Given the description of an element on the screen output the (x, y) to click on. 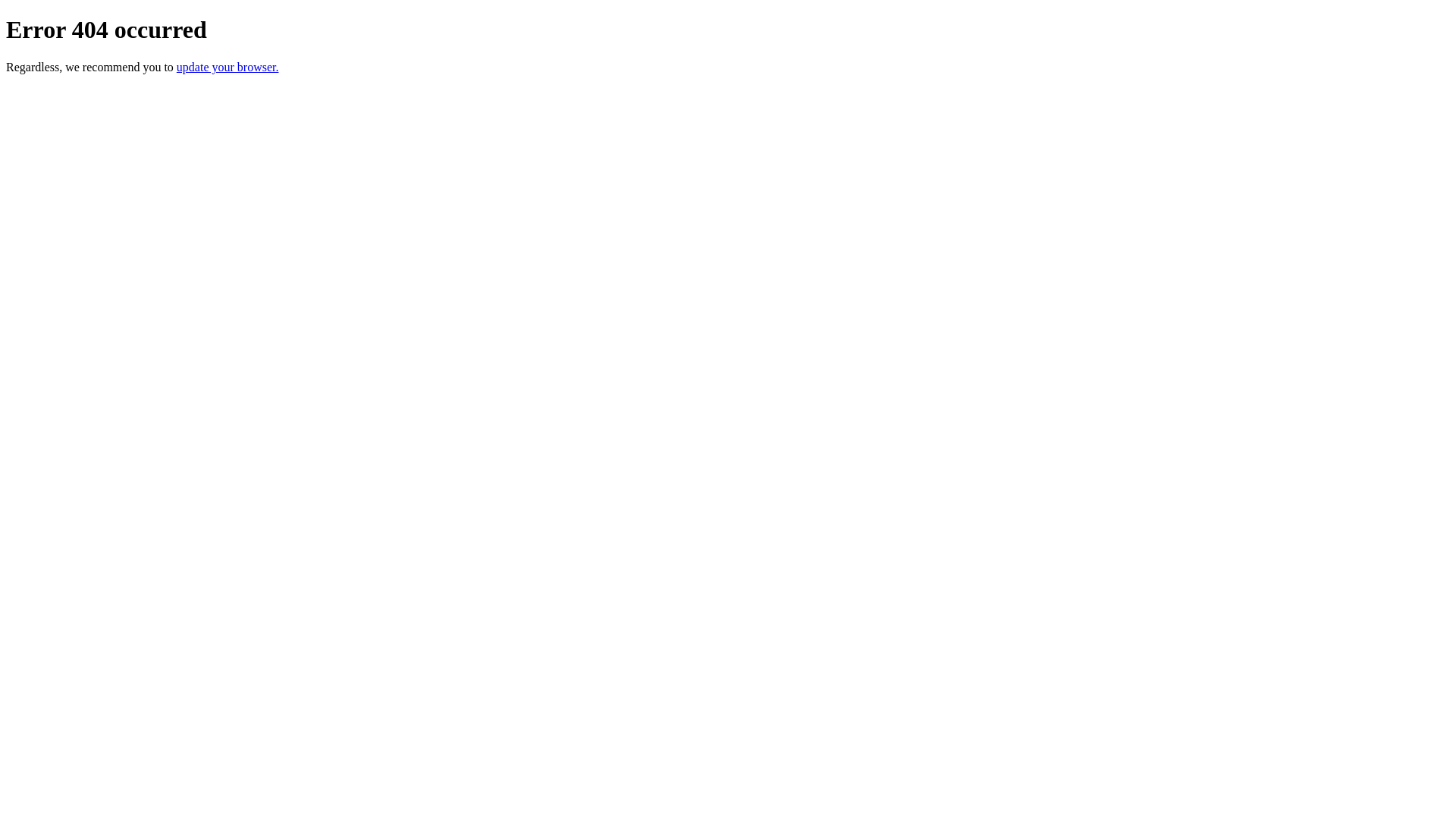
update your browser. Element type: text (227, 66)
